Given the description of an element on the screen output the (x, y) to click on. 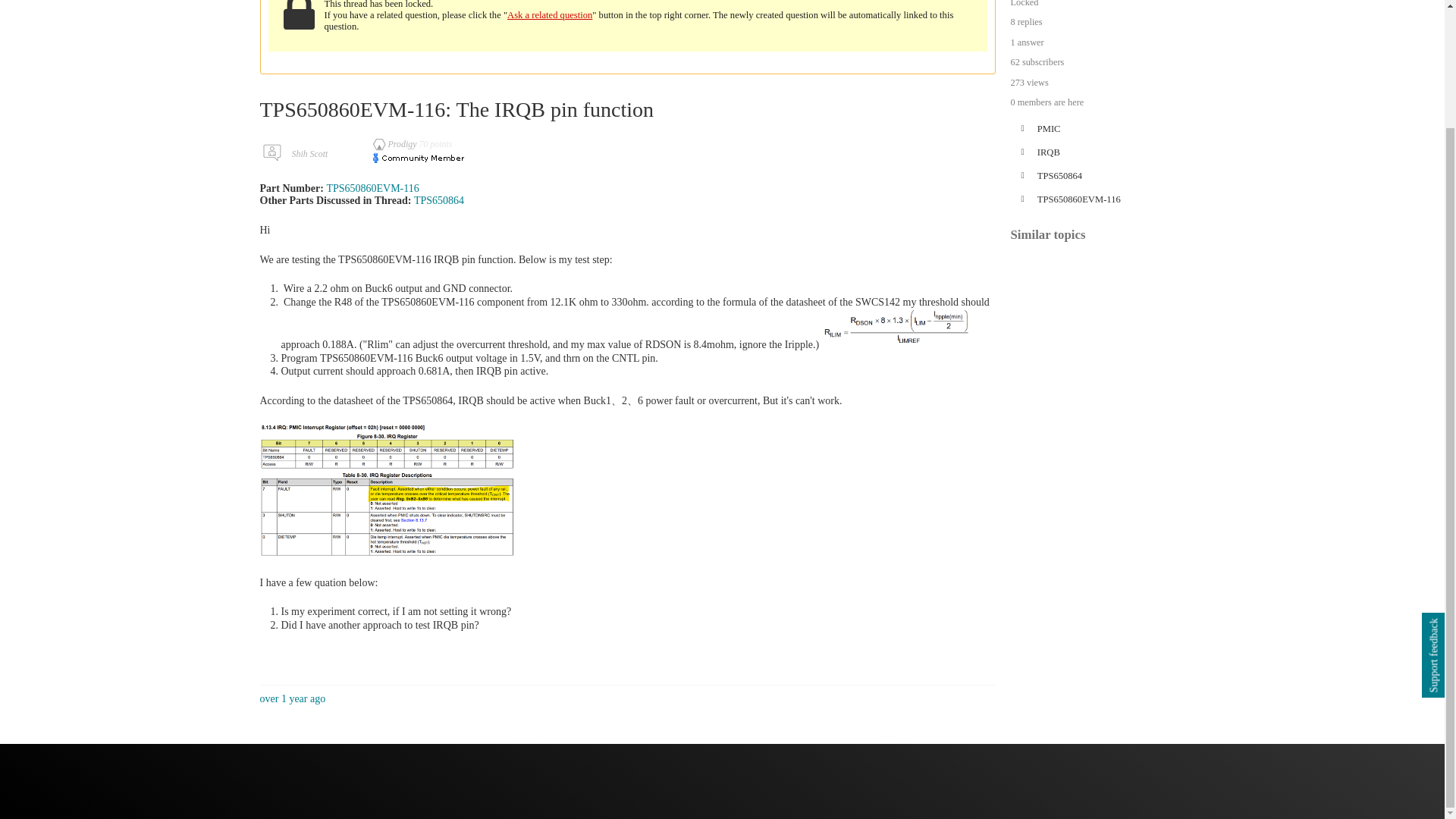
Link to Tool Folder (372, 188)
Click here for explanation of levels (395, 143)
Link to Product Folder (438, 200)
